Given the description of an element on the screen output the (x, y) to click on. 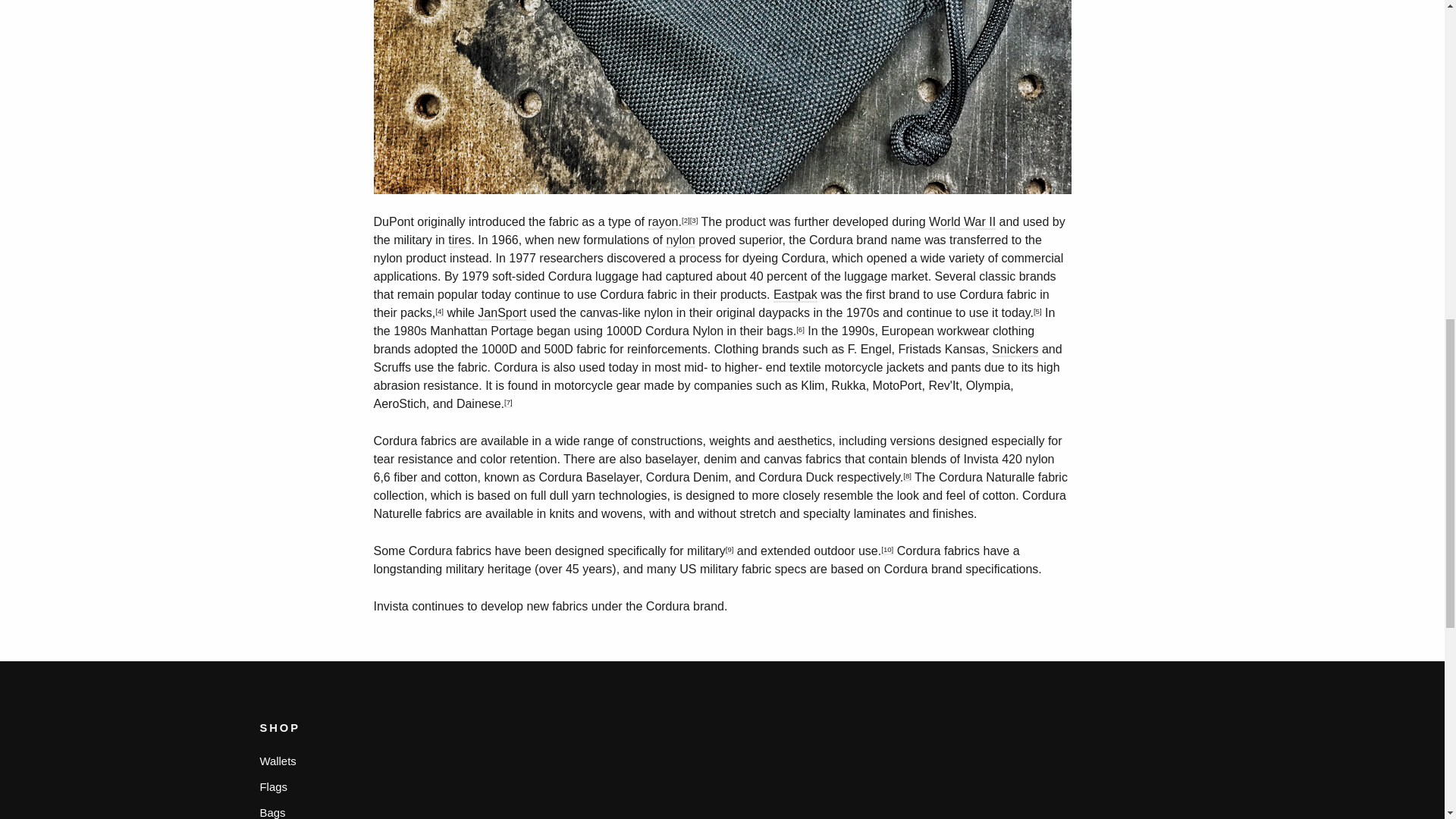
World War II (961, 222)
tires (459, 240)
JanSport (501, 313)
World War II (961, 222)
rayon (662, 222)
nylon (679, 240)
Rayon (662, 222)
Tires (459, 240)
Nylon (679, 240)
Eastpak (794, 295)
